Given the description of an element on the screen output the (x, y) to click on. 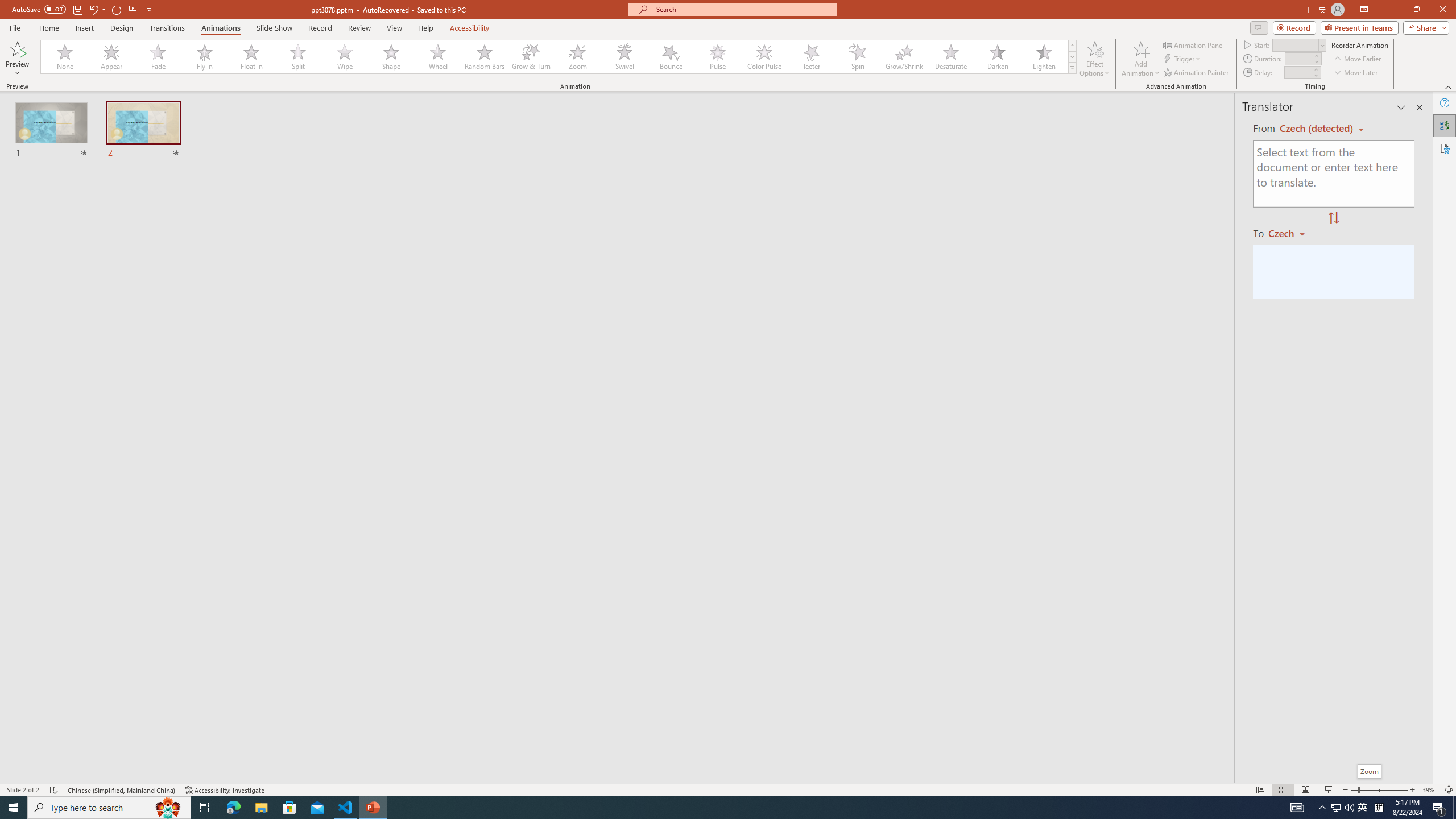
Wheel (437, 56)
Animation Duration (1298, 58)
Fly In (205, 56)
None (65, 56)
Animation Painter (1196, 72)
